Given the description of an element on the screen output the (x, y) to click on. 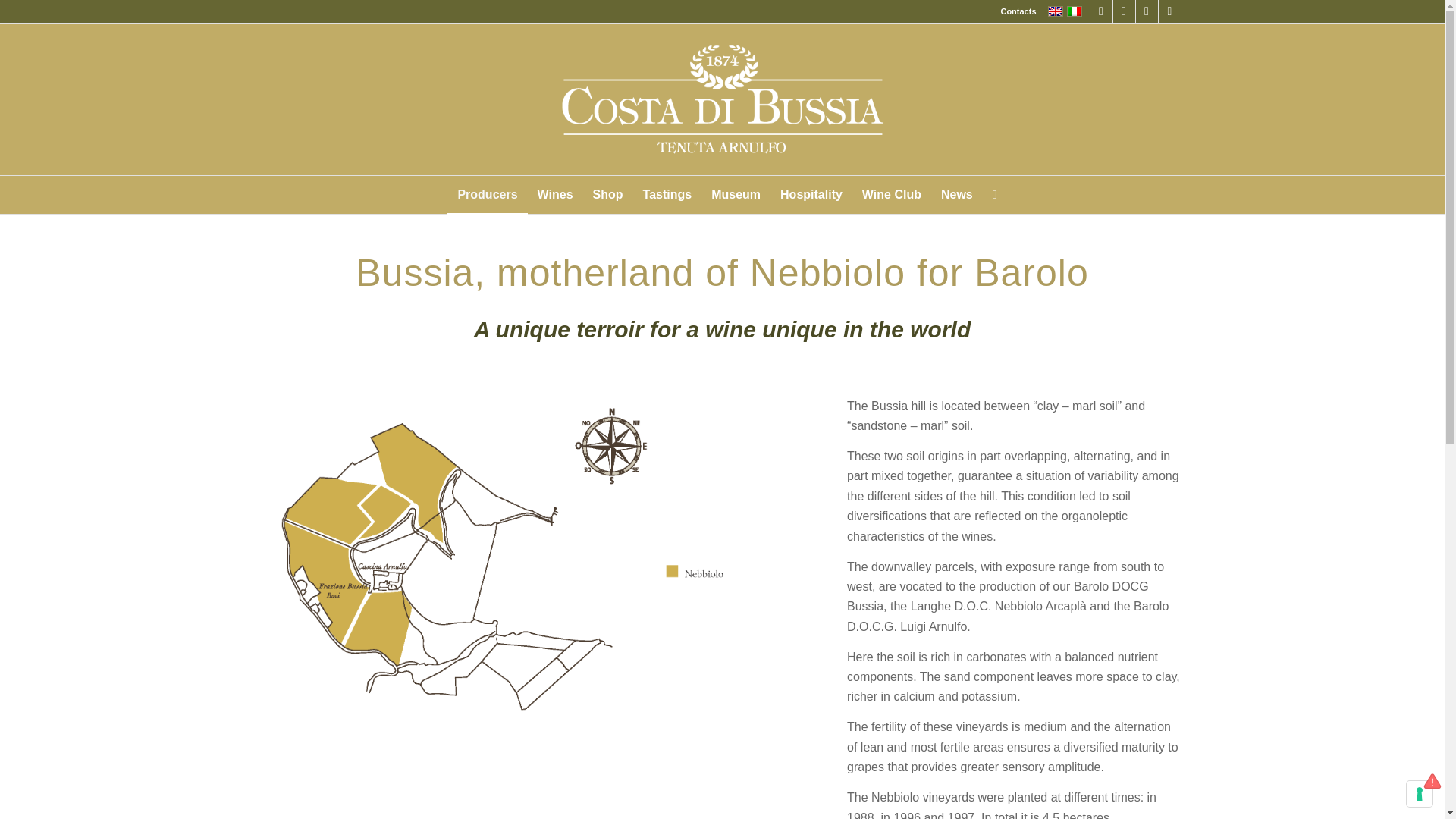
Youtube (1169, 11)
Wines (555, 194)
English (1055, 10)
Facebook (1101, 11)
Instagram (1146, 11)
Italiano (1073, 10)
Shop (608, 194)
Producers (486, 194)
Twitter (1124, 11)
Contacts (1017, 11)
